Given the description of an element on the screen output the (x, y) to click on. 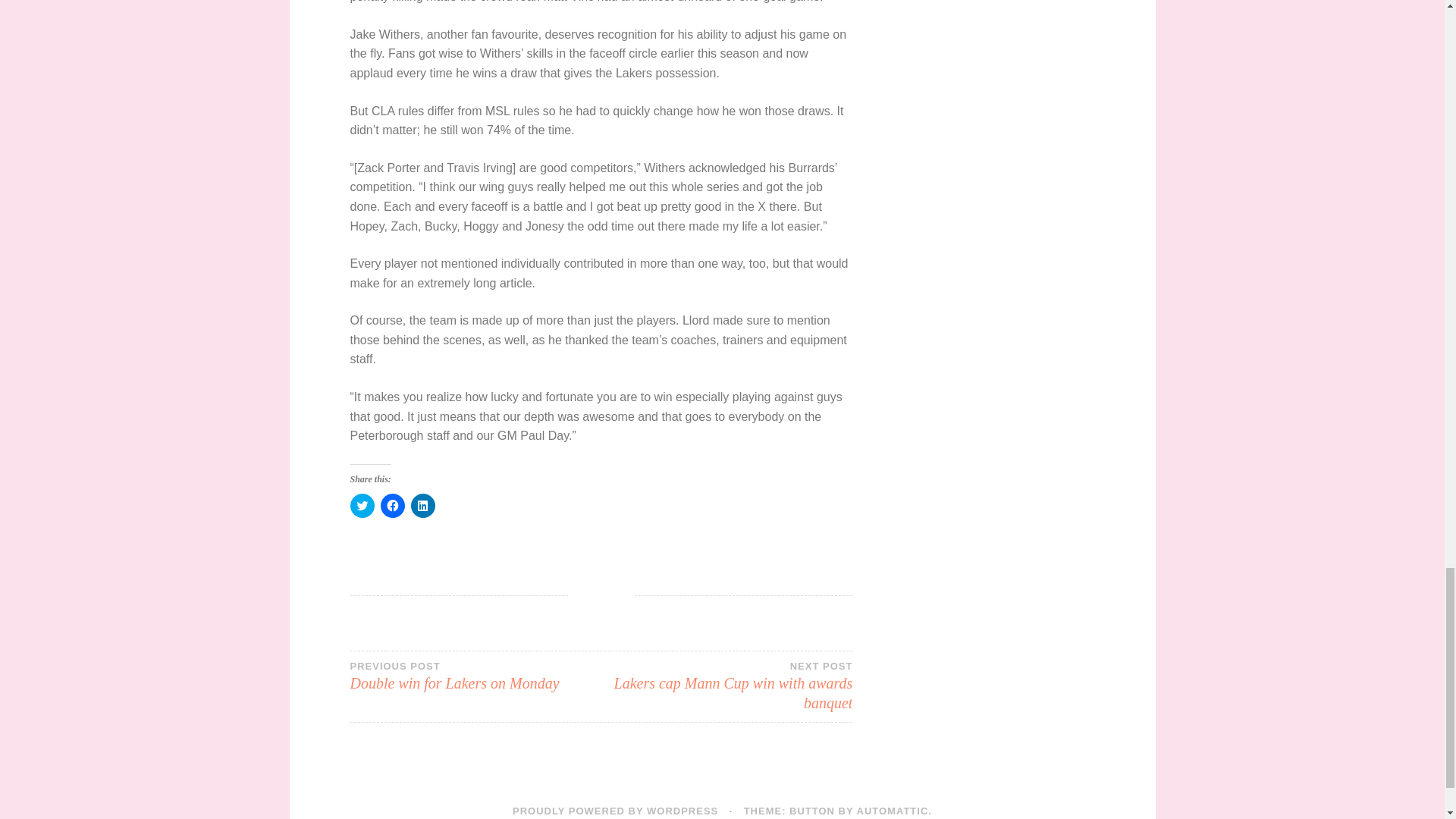
Click to share on Twitter (726, 685)
Click to share on Facebook (475, 675)
PROUDLY POWERED BY WORDPRESS (362, 505)
Click to share on LinkedIn (392, 505)
AUTOMATTIC (614, 810)
